Given the description of an element on the screen output the (x, y) to click on. 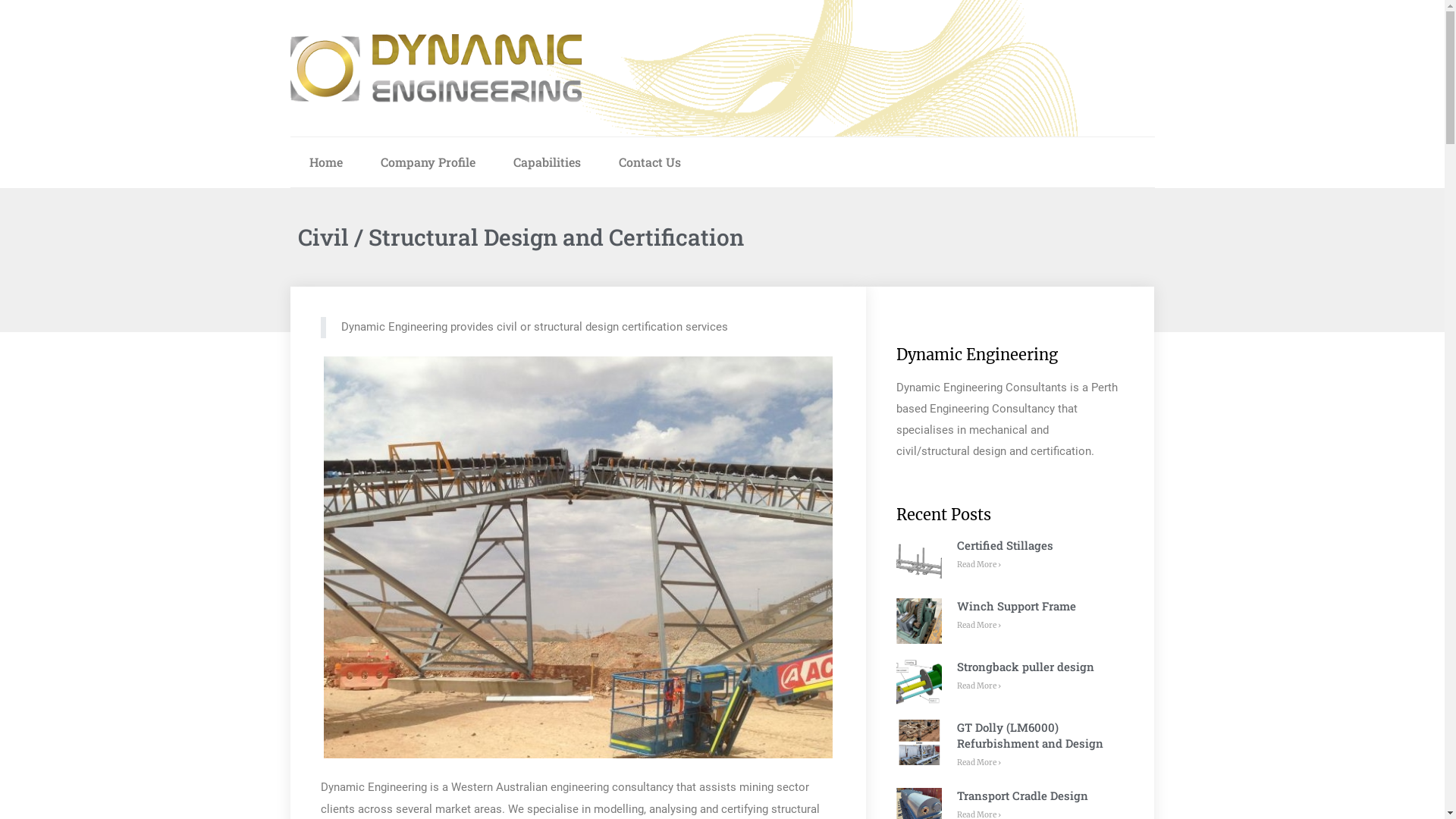
Dynamic Engineering Logo Element type: hover (434, 68)
Contact Us Element type: text (649, 162)
Strongback puller design Element type: text (1025, 666)
Certified Stillages Element type: text (1005, 544)
Company Profile Element type: text (426, 162)
Capabilities Element type: text (546, 162)
Transport Cradle Design Element type: text (1022, 795)
GT Dolly (LM6000) Refurbishment and Design Element type: text (1030, 734)
Home Element type: text (324, 162)
Winch Support Frame Element type: text (1016, 605)
